Given the description of an element on the screen output the (x, y) to click on. 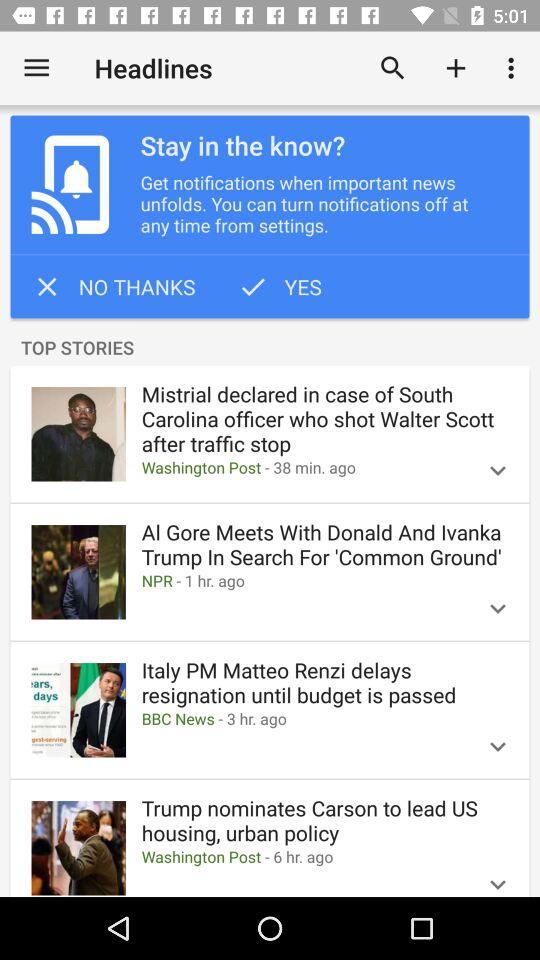
press the icon to the right of no thanks (279, 286)
